Given the description of an element on the screen output the (x, y) to click on. 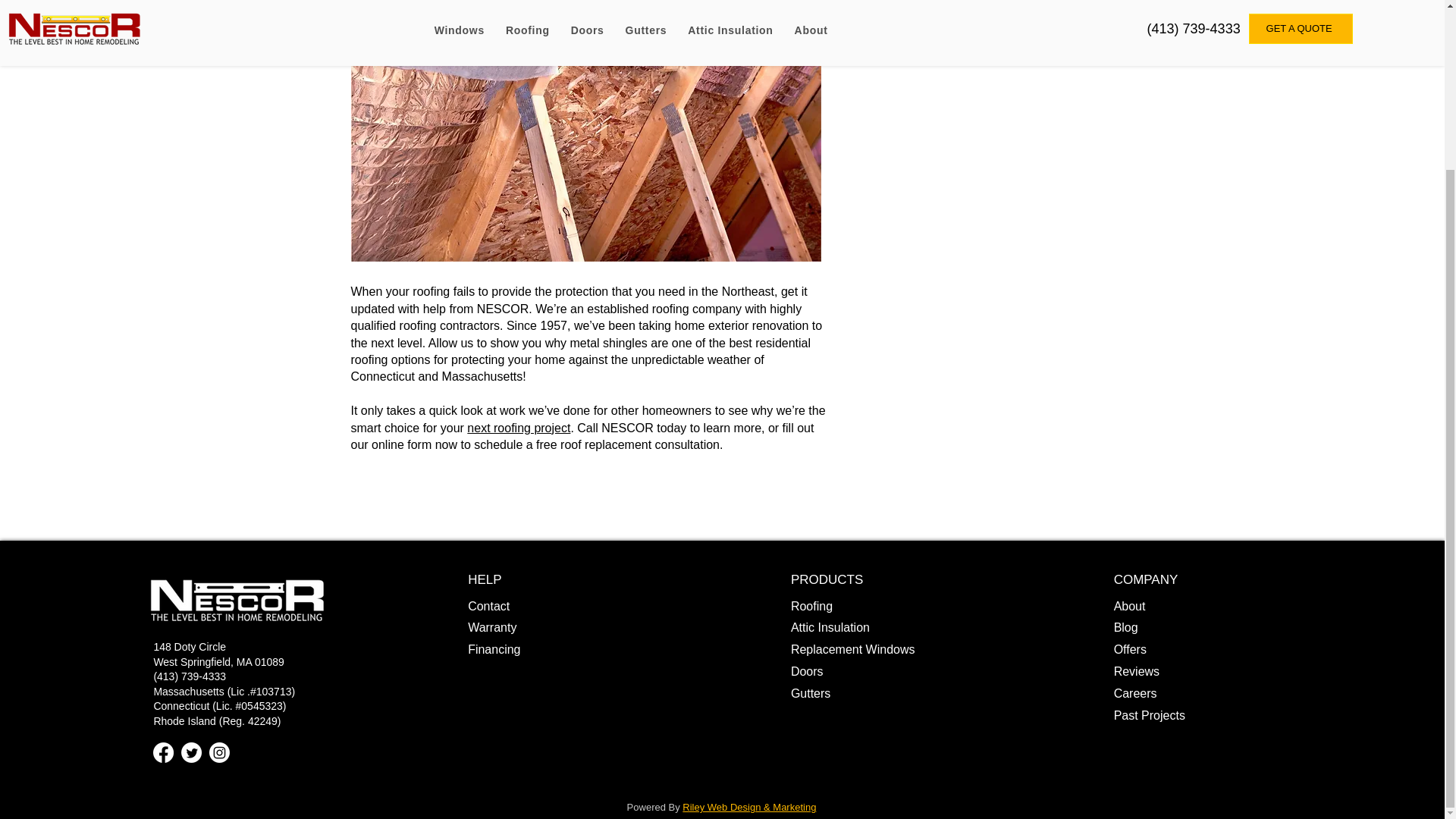
Financing (493, 649)
Blog (1125, 626)
Gutters (809, 693)
Contact (488, 605)
Roofing (811, 605)
Big E Promotions (924, 17)
About (1129, 605)
Offers (1130, 649)
Replacement Windows (852, 649)
Warranty (491, 626)
Doors (807, 671)
Attic Insulation (829, 626)
